Given the description of an element on the screen output the (x, y) to click on. 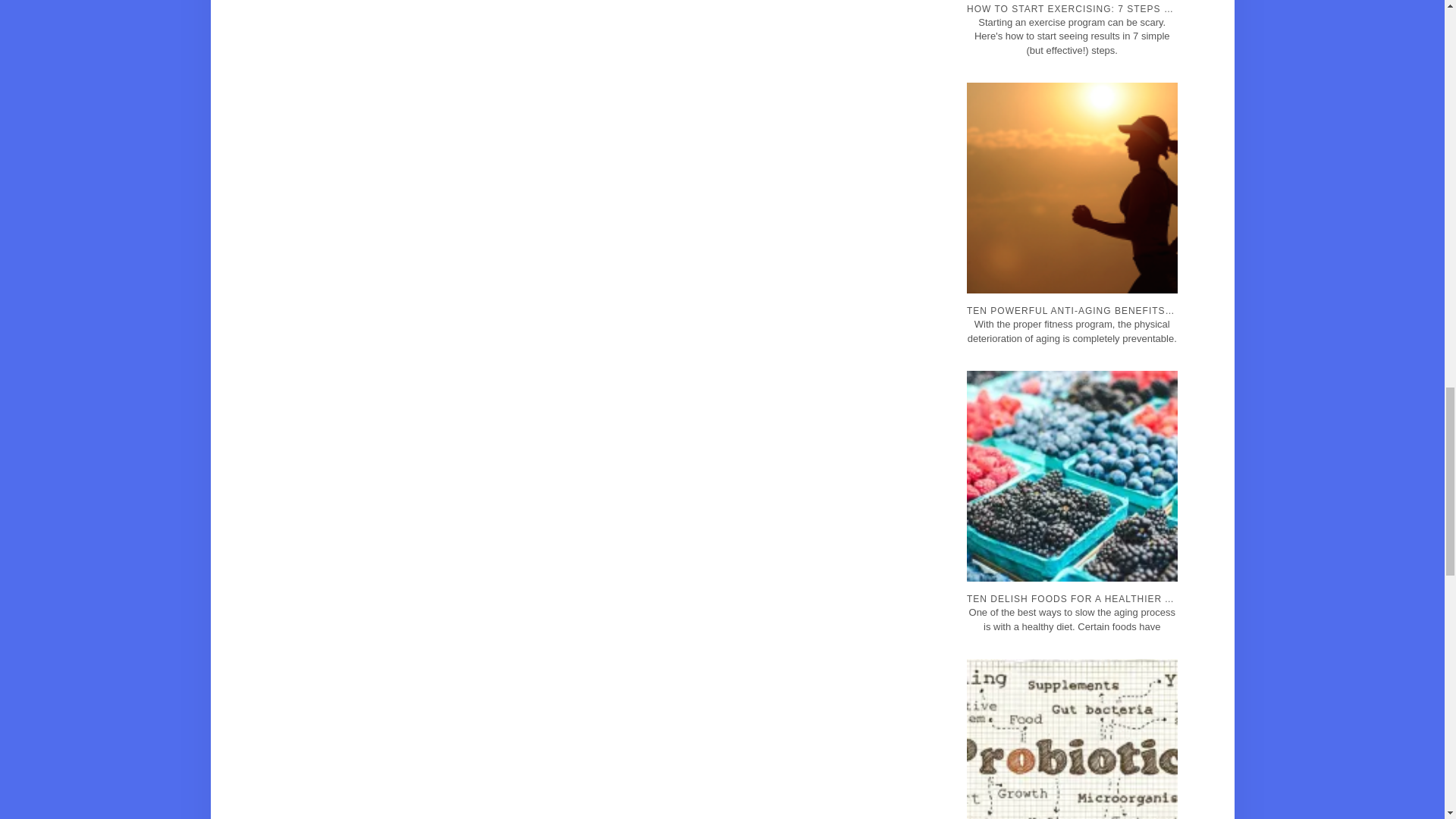
TEN THINGS YOU NEED TO KNOW ABOUT PROBIOTICS (1075, 787)
TEN POWERFUL ANTI-AGING BENEFITS OF EXERCISE (1075, 249)
TEN DELISH FOODS FOR A HEALTHIER ANTI-AGING DIET (1075, 537)
